Given the description of an element on the screen output the (x, y) to click on. 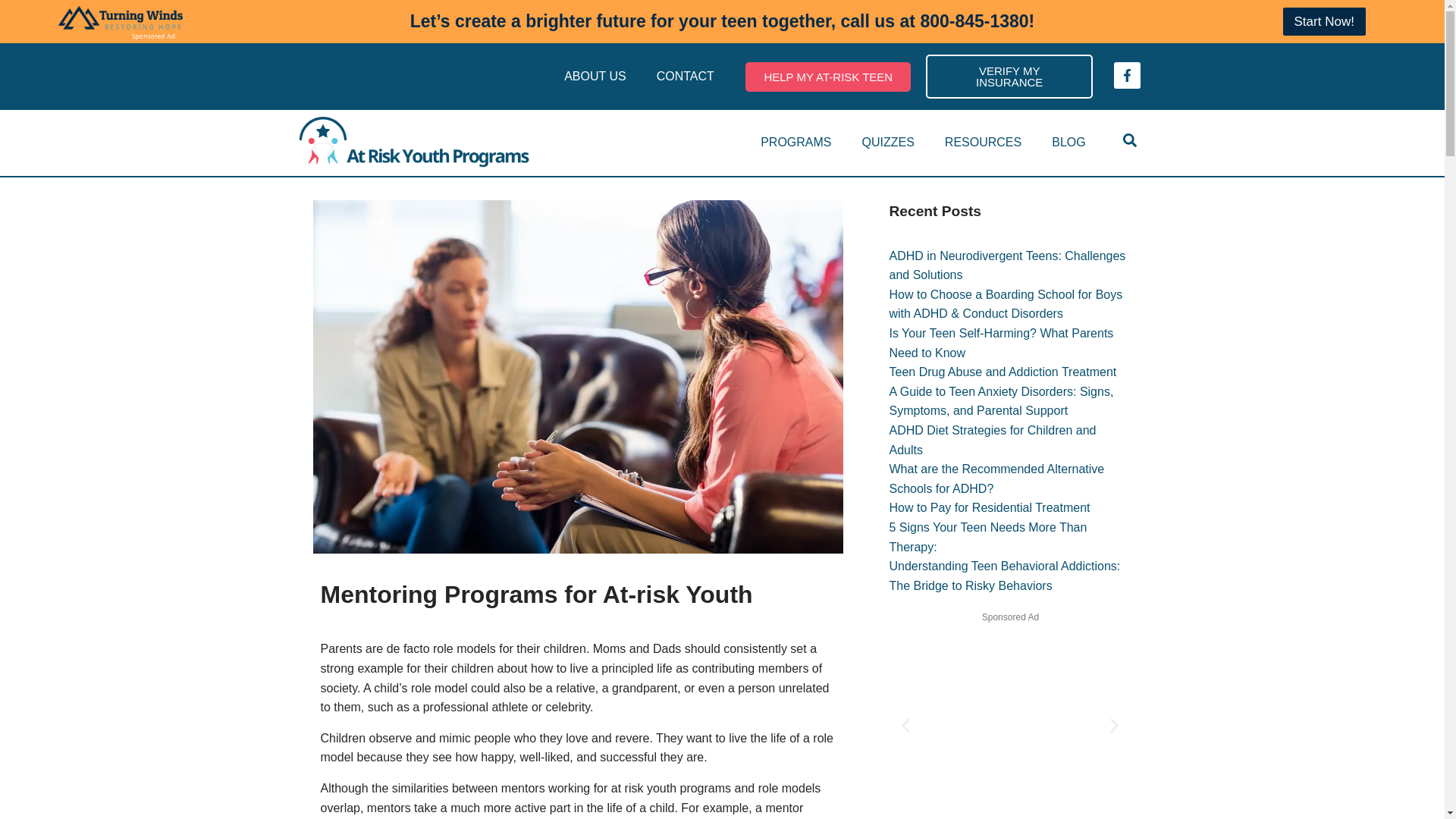
HELP MY AT-RISK TEEN (828, 76)
ABOUT US (595, 76)
PROGRAMS (795, 142)
800-845-1380 (973, 21)
CONTACT (685, 76)
QUIZZES (886, 142)
BLOG (1068, 142)
RESOURCES (983, 142)
VERIFY MY INSURANCE (1009, 76)
Skip to content (11, 31)
Start Now! (1323, 21)
